Given the description of an element on the screen output the (x, y) to click on. 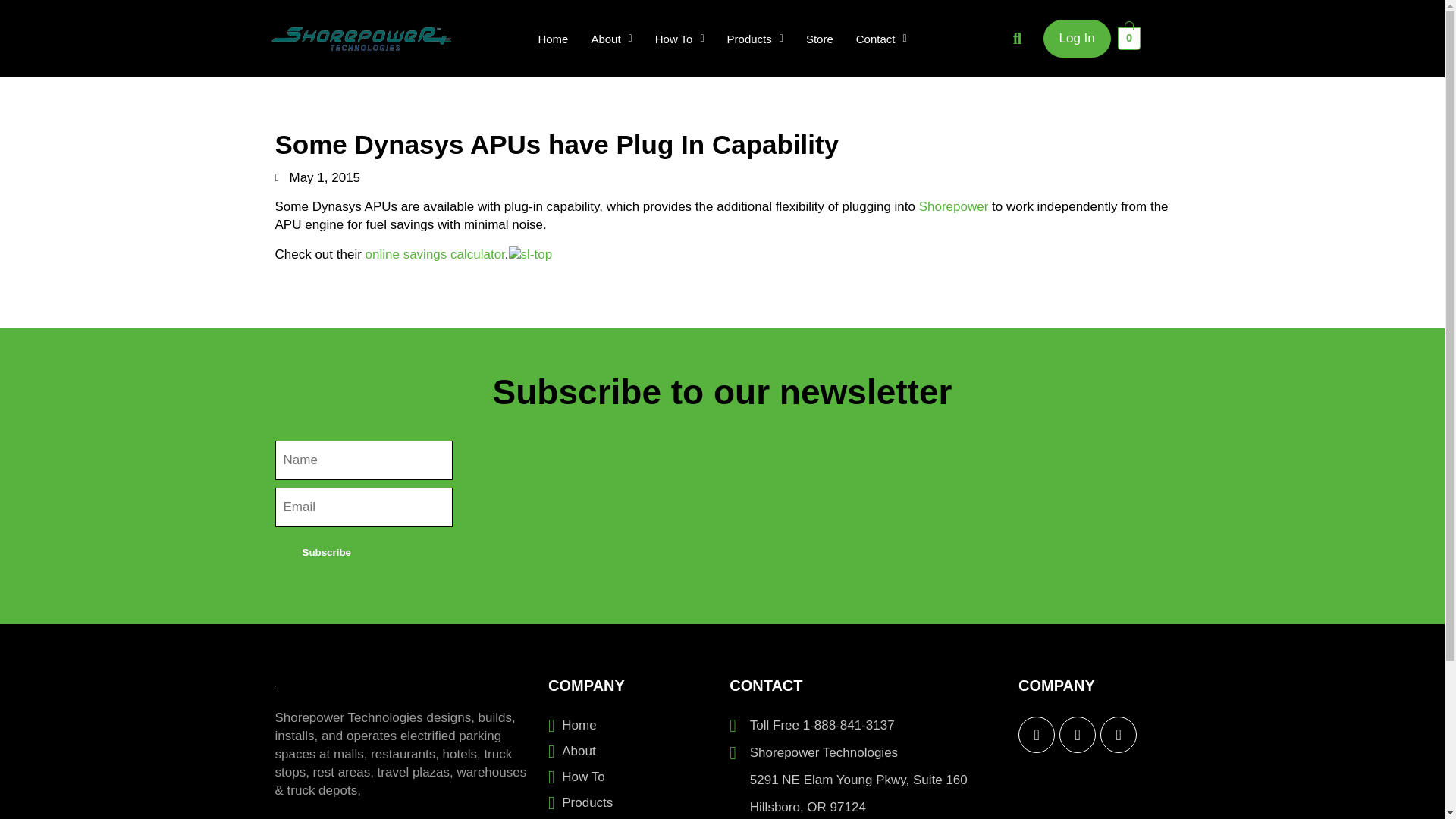
About (611, 38)
Products (755, 38)
Log In (1076, 38)
Store (819, 38)
Home (552, 38)
View your shopping cart (1129, 37)
0 (1129, 37)
Contact (881, 38)
How To (679, 38)
Subscribe (326, 552)
